Given the description of an element on the screen output the (x, y) to click on. 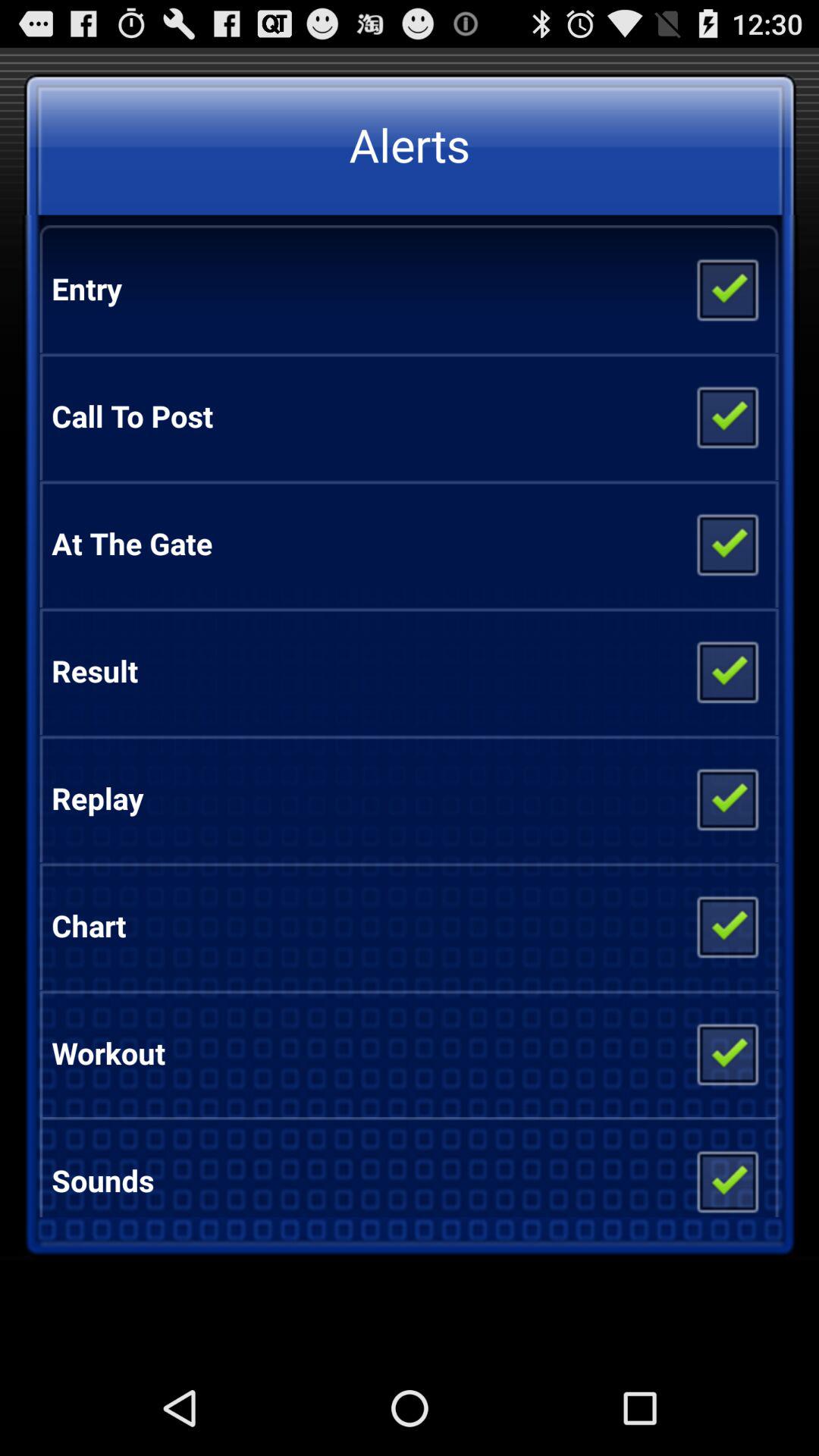
turn off the icon next to chart item (726, 925)
